Given the description of an element on the screen output the (x, y) to click on. 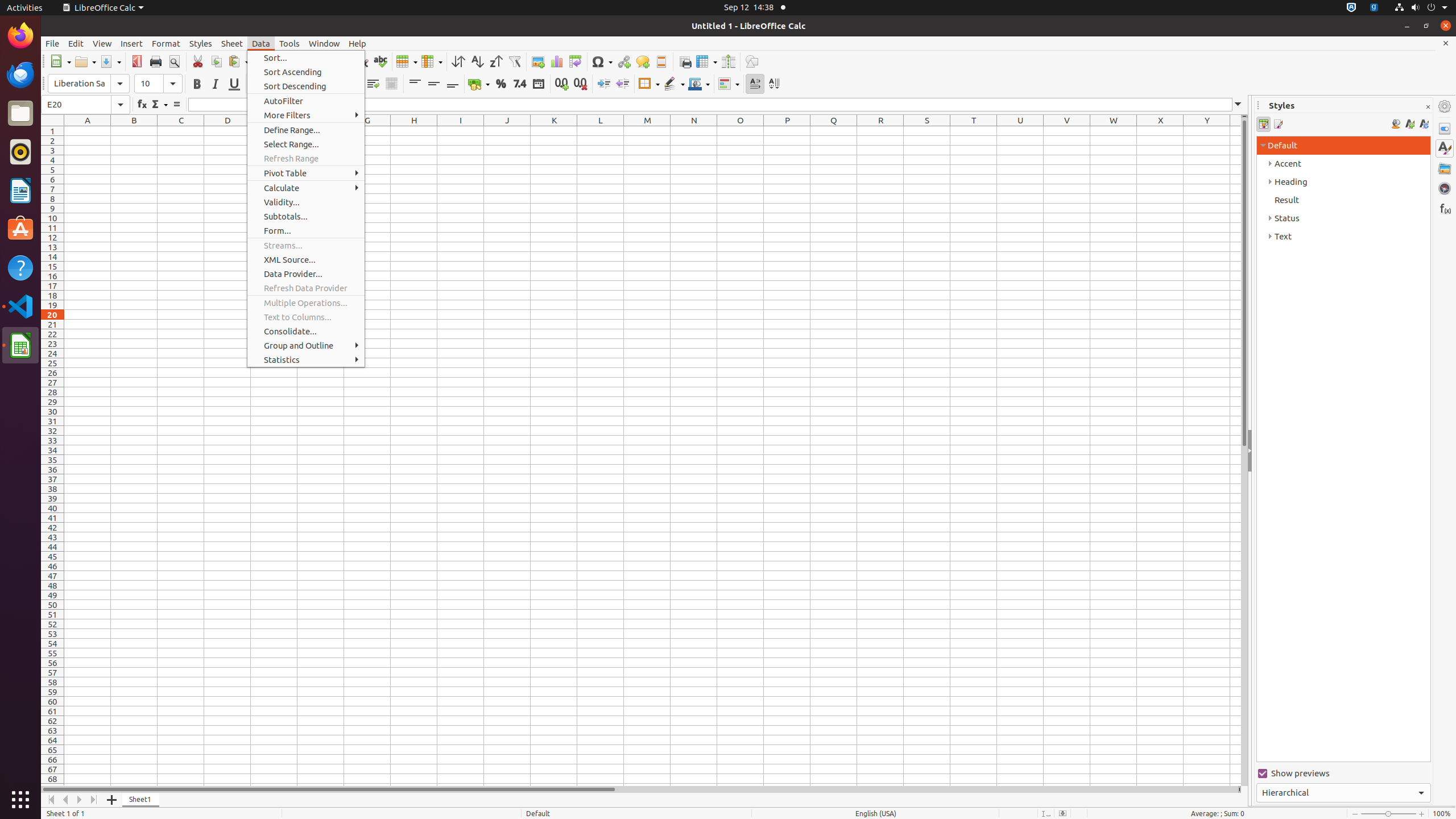
U1 Element type: table-cell (1020, 130)
Files Element type: push-button (20, 113)
System Element type: menu (1420, 7)
Pivot Table Element type: menu (305, 173)
Merge and Center Cells Element type: push-button (391, 83)
